Given the description of an element on the screen output the (x, y) to click on. 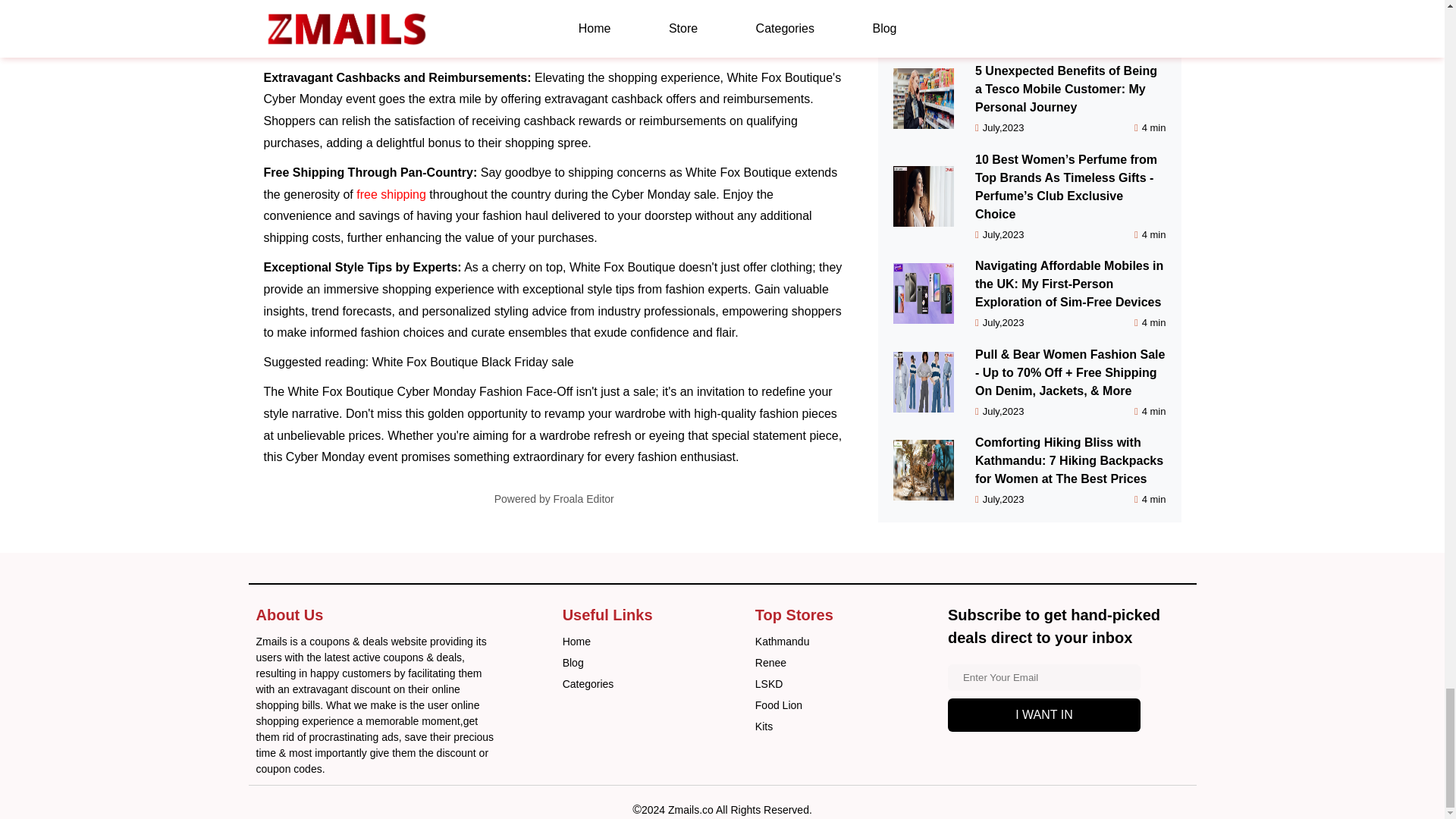
free shipping (391, 194)
Categories (588, 684)
Food Lion (778, 705)
Froala Editor (583, 499)
Kits (764, 726)
Renee (770, 662)
Froala Editor (583, 499)
Home (576, 641)
Kathmandu (782, 641)
Blog (572, 662)
loyalty bonuses (360, 5)
LSKD (769, 684)
